Given the description of an element on the screen output the (x, y) to click on. 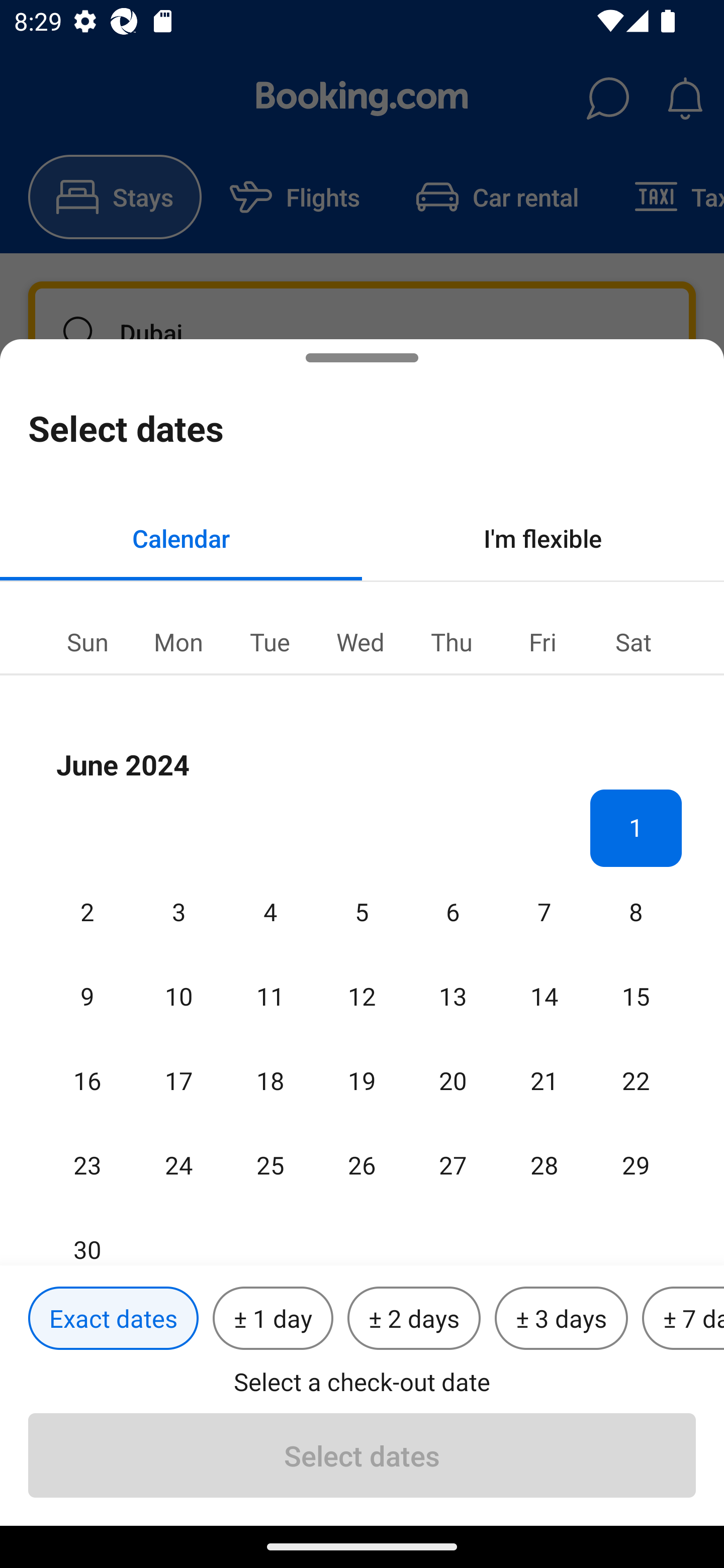
I'm flexible (543, 537)
Exact dates (113, 1318)
± 1 day (272, 1318)
± 2 days (413, 1318)
± 3 days (560, 1318)
± 7 days (683, 1318)
Select dates (361, 1454)
